Given the description of an element on the screen output the (x, y) to click on. 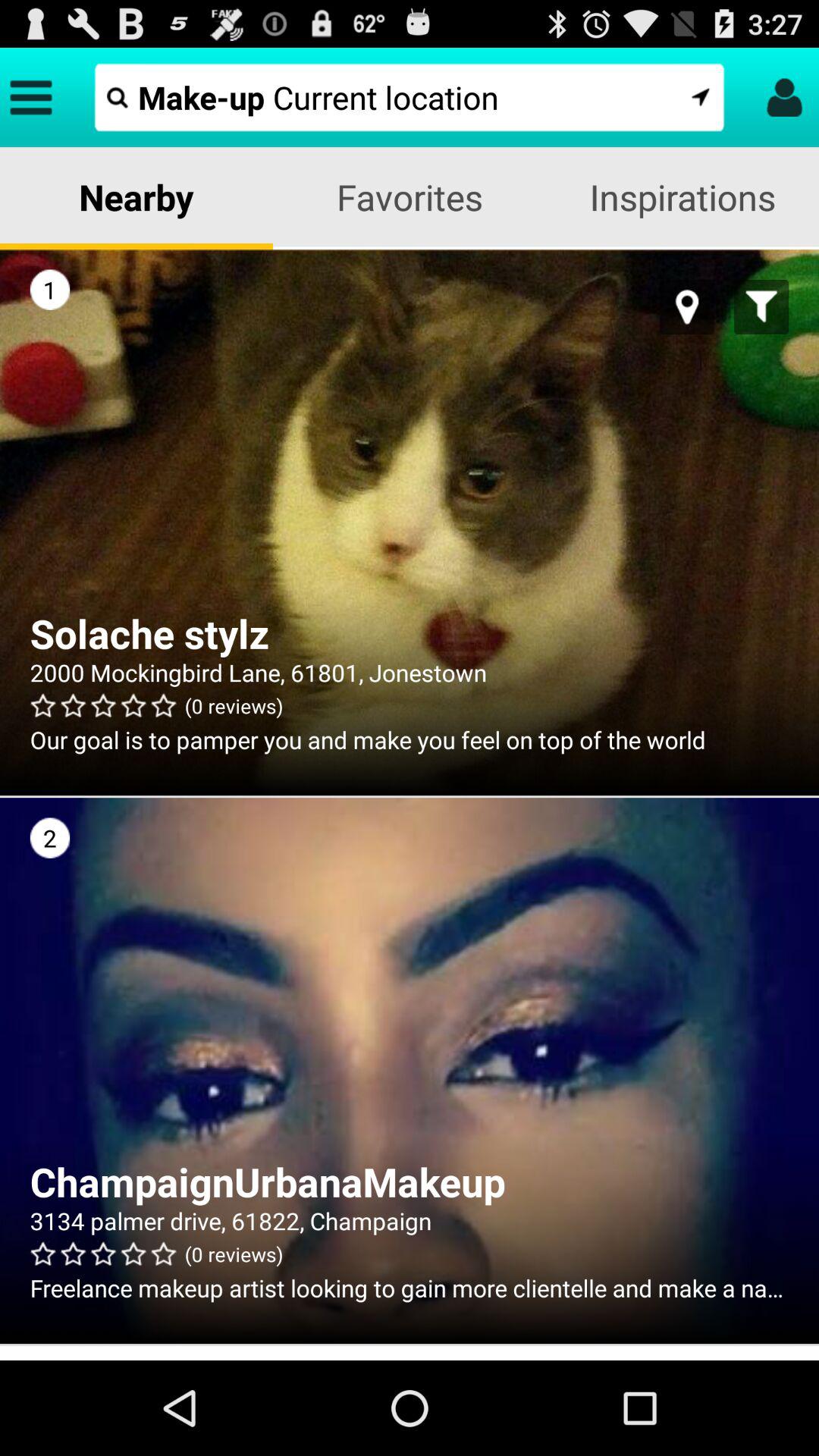
turn off the 2000 mockingbird lane item (409, 672)
